Given the description of an element on the screen output the (x, y) to click on. 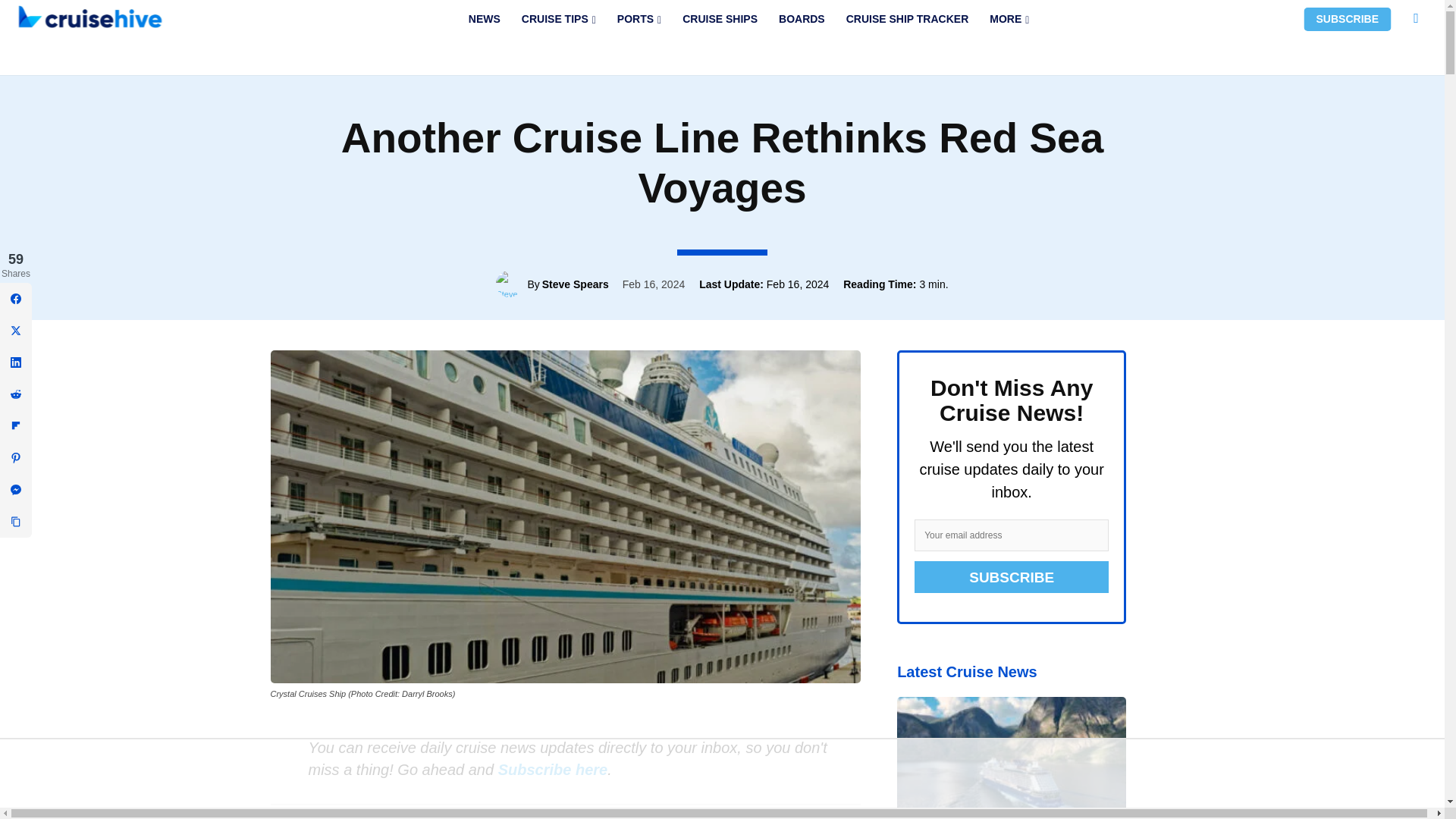
NEWS (484, 19)
View all posts in Cruise News (671, 68)
Steve Spears (511, 284)
View all posts in Luxury Cruise News (755, 68)
CRUISE TIPS (559, 19)
SUBSCRIBE (1347, 19)
PORTS (639, 19)
